Given the description of an element on the screen output the (x, y) to click on. 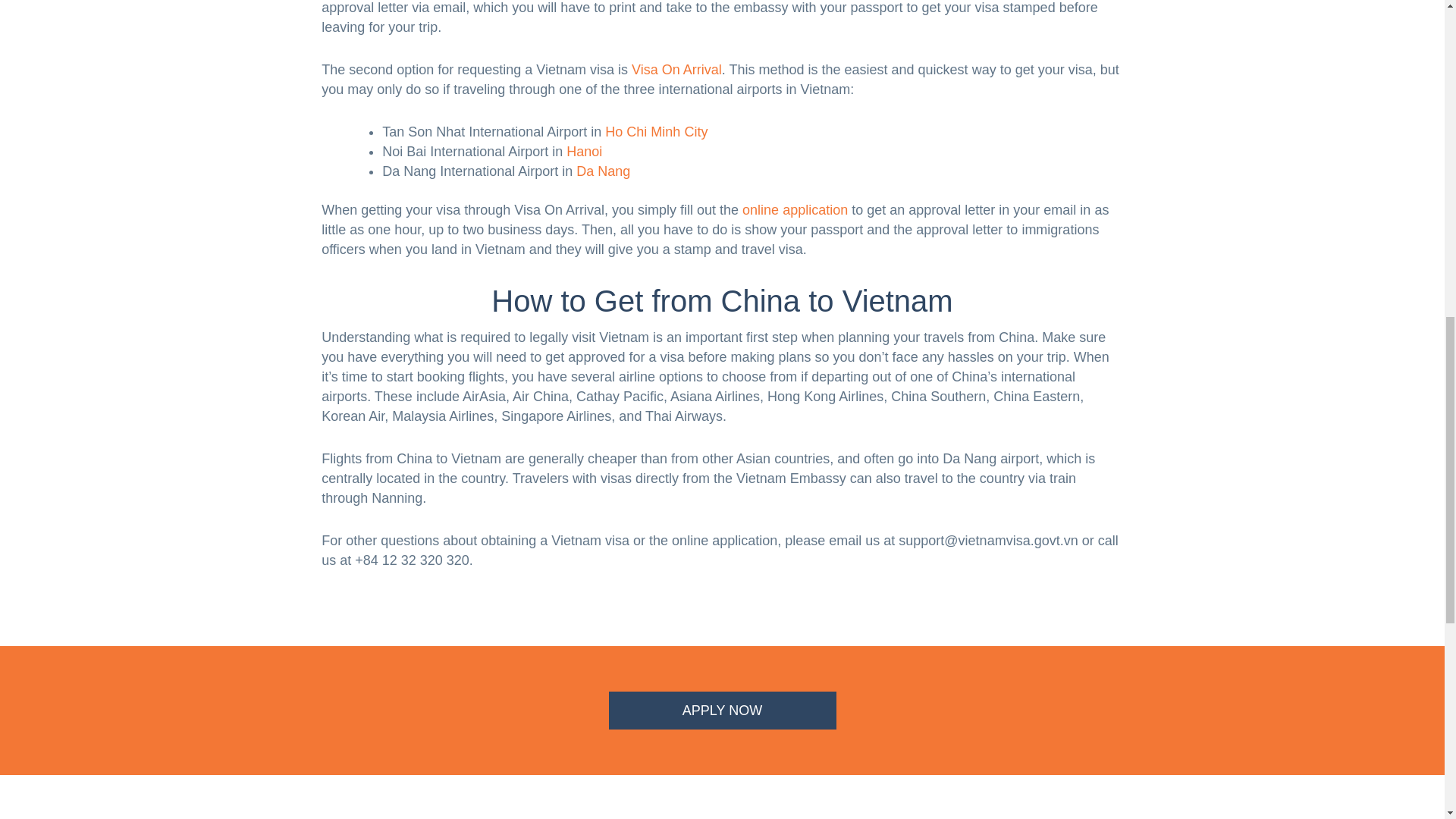
Hanoi (584, 151)
online application (794, 209)
APPLY NOW (721, 710)
Da Nang (603, 171)
Ho Chi Minh City (656, 131)
Visa On Arrival (676, 69)
